Given the description of an element on the screen output the (x, y) to click on. 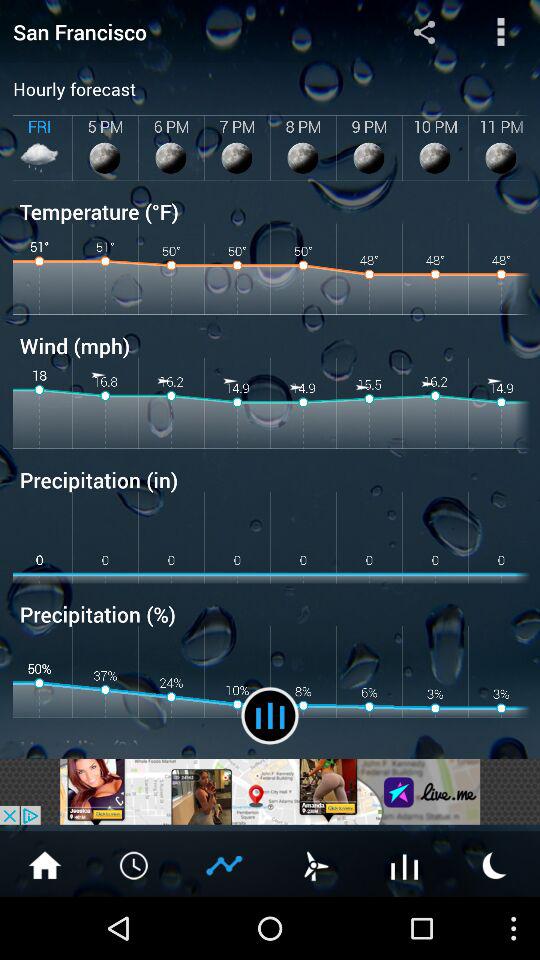
sound (405, 864)
